Given the description of an element on the screen output the (x, y) to click on. 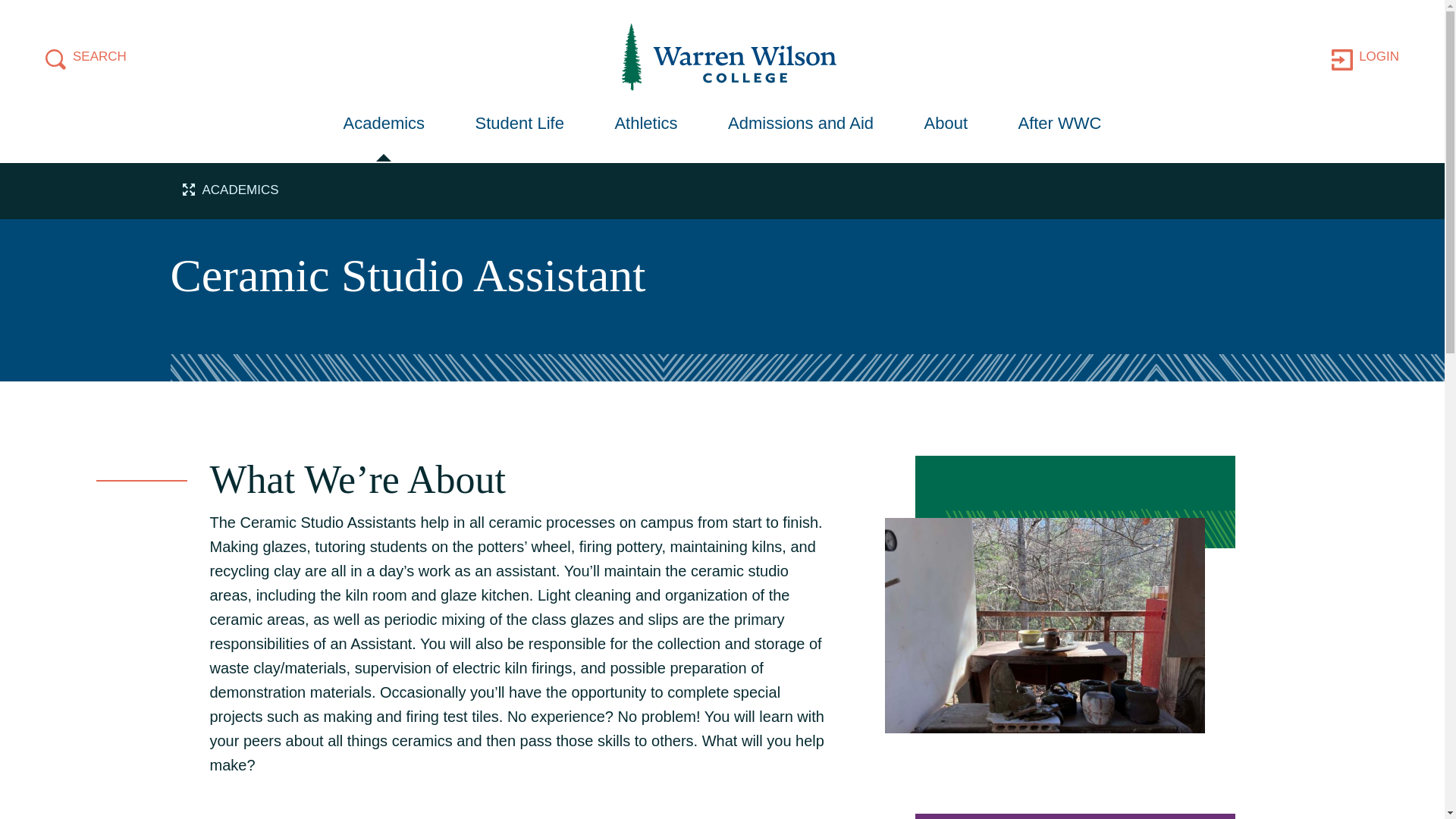
design--magnify (55, 59)
About (945, 128)
Athletics (645, 128)
Student Life (520, 128)
design--login (1342, 59)
SEARCH (85, 56)
After WWC (1058, 128)
design--arrows-out (187, 189)
Academics (383, 137)
Admissions and Aid (722, 188)
LOGIN (800, 128)
